Given the description of an element on the screen output the (x, y) to click on. 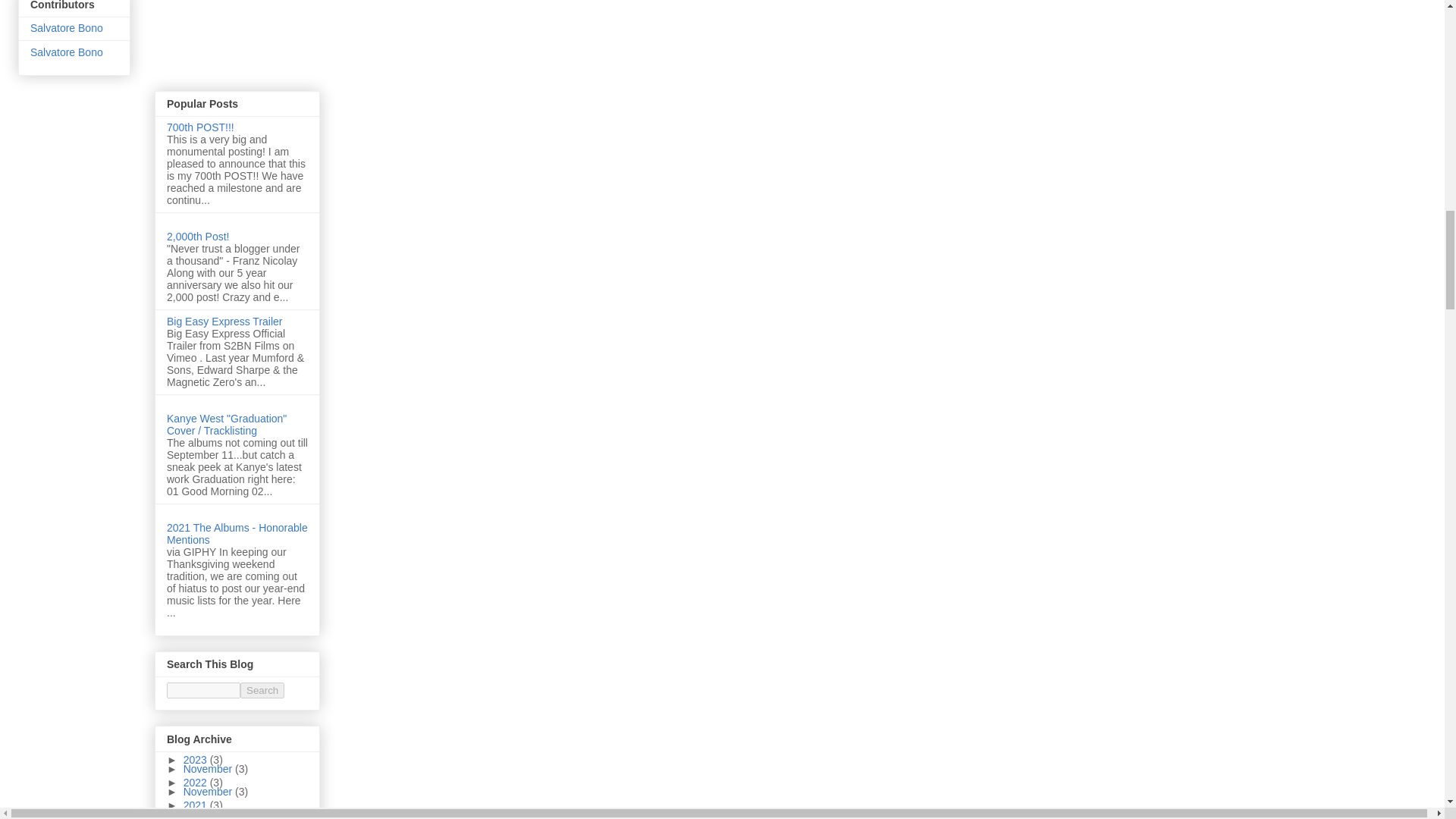
2023 (196, 759)
Salvatore Bono (66, 28)
Salvatore Bono (66, 51)
Big Easy Express Trailer (224, 321)
2021 The Albums - Honorable Mentions (237, 533)
2,000th Post! (198, 236)
Search (261, 690)
700th POST!!! (200, 127)
Search (261, 690)
search (203, 690)
Search (261, 690)
